Given the description of an element on the screen output the (x, y) to click on. 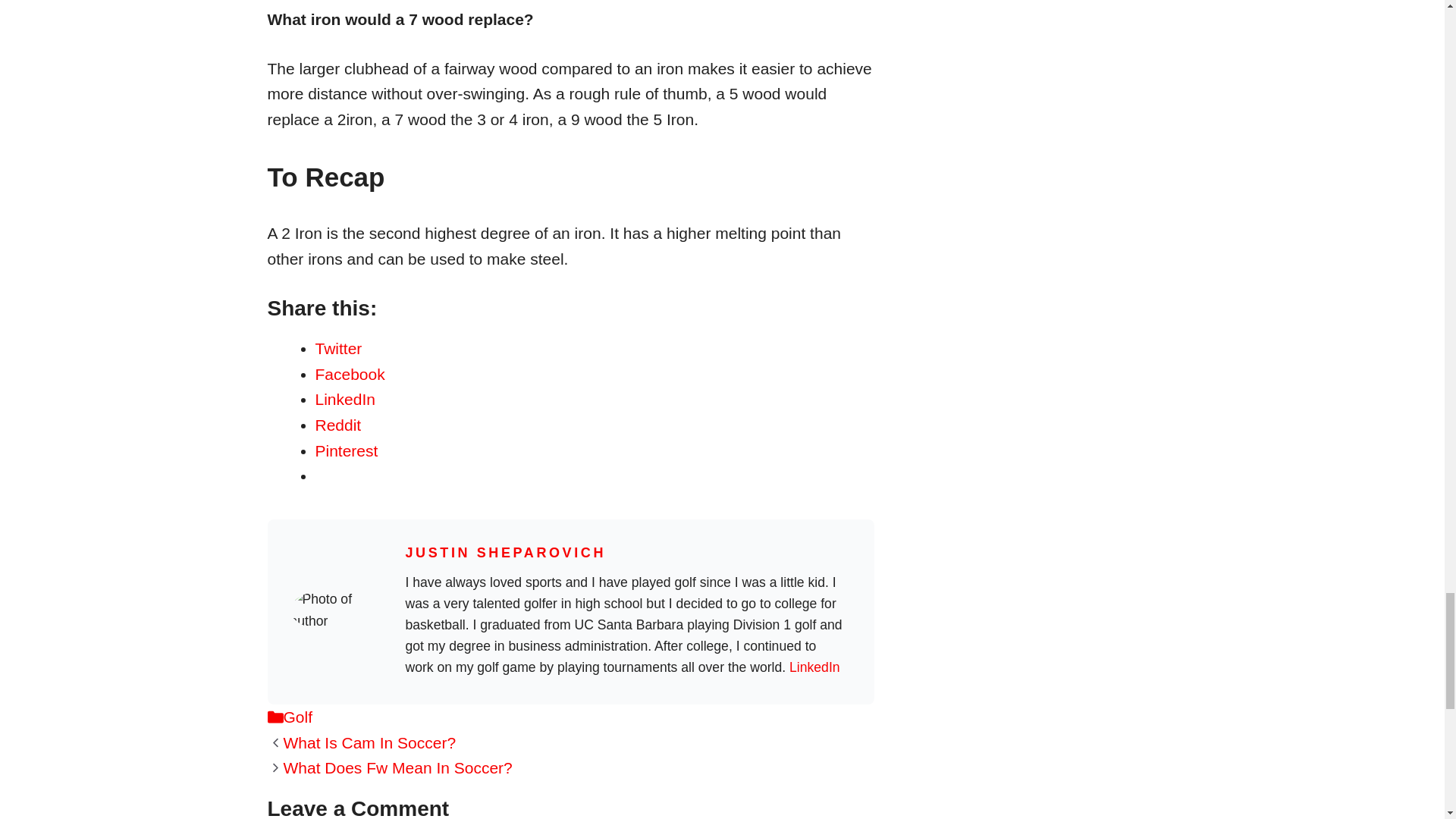
Click to share on Pinterest (346, 450)
Click to share on Twitter (338, 348)
Click to share on Reddit (338, 425)
Twitter (338, 348)
JUSTIN SHEPAROVICH (504, 552)
Facebook (350, 374)
Click to share on Facebook (350, 374)
Reddit (338, 425)
Categories (274, 716)
What Is Cam In Soccer? (370, 742)
LinkedIn (814, 667)
Click to share on LinkedIn (345, 398)
Pinterest (346, 450)
What Does Fw Mean In Soccer? (397, 767)
Golf (298, 716)
